Given the description of an element on the screen output the (x, y) to click on. 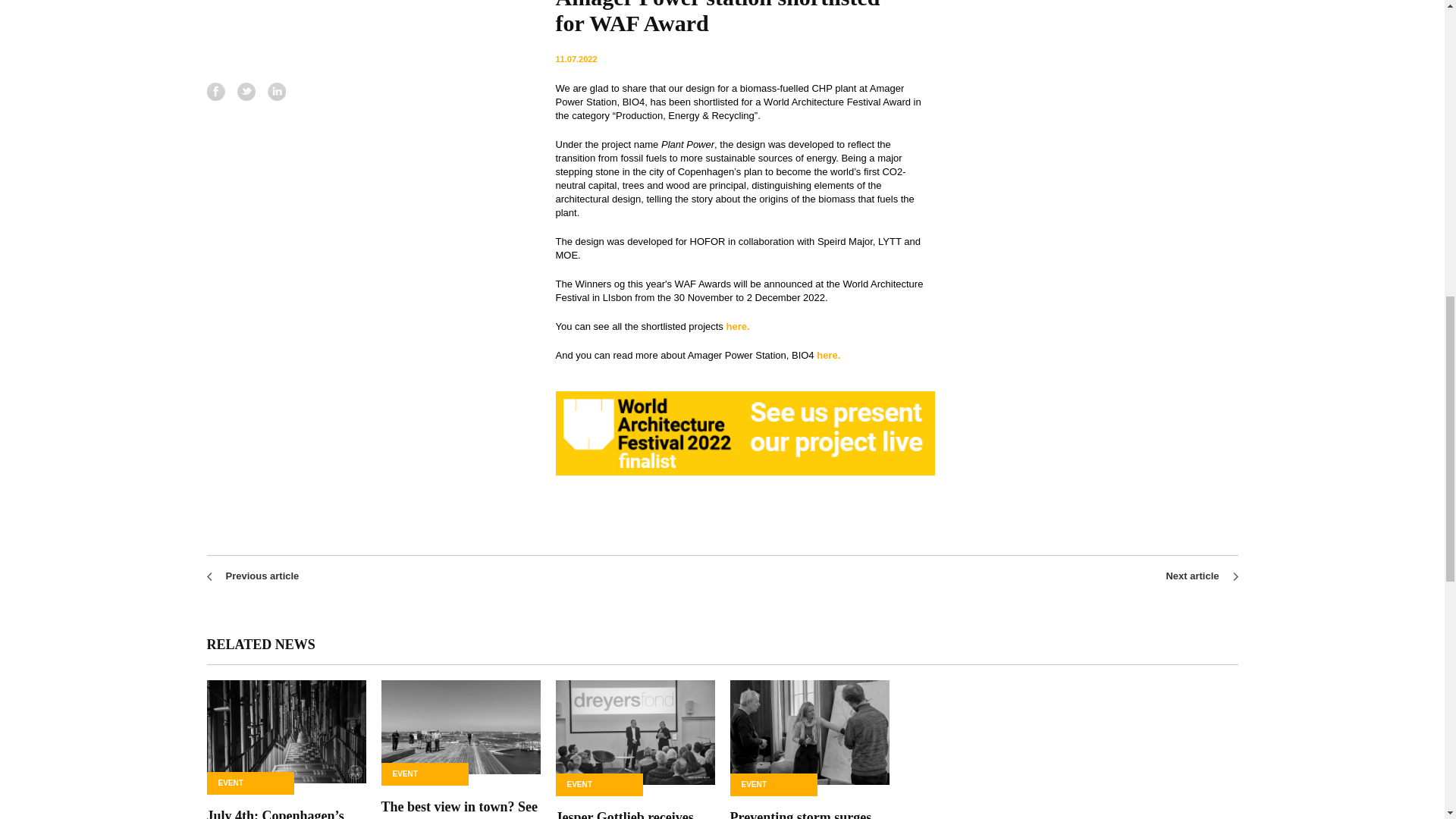
Facebook (215, 91)
here.  (739, 326)
Linkedin (275, 91)
Twitter (244, 91)
Previous article (261, 575)
Next article (1192, 575)
here. (828, 355)
